Given the description of an element on the screen output the (x, y) to click on. 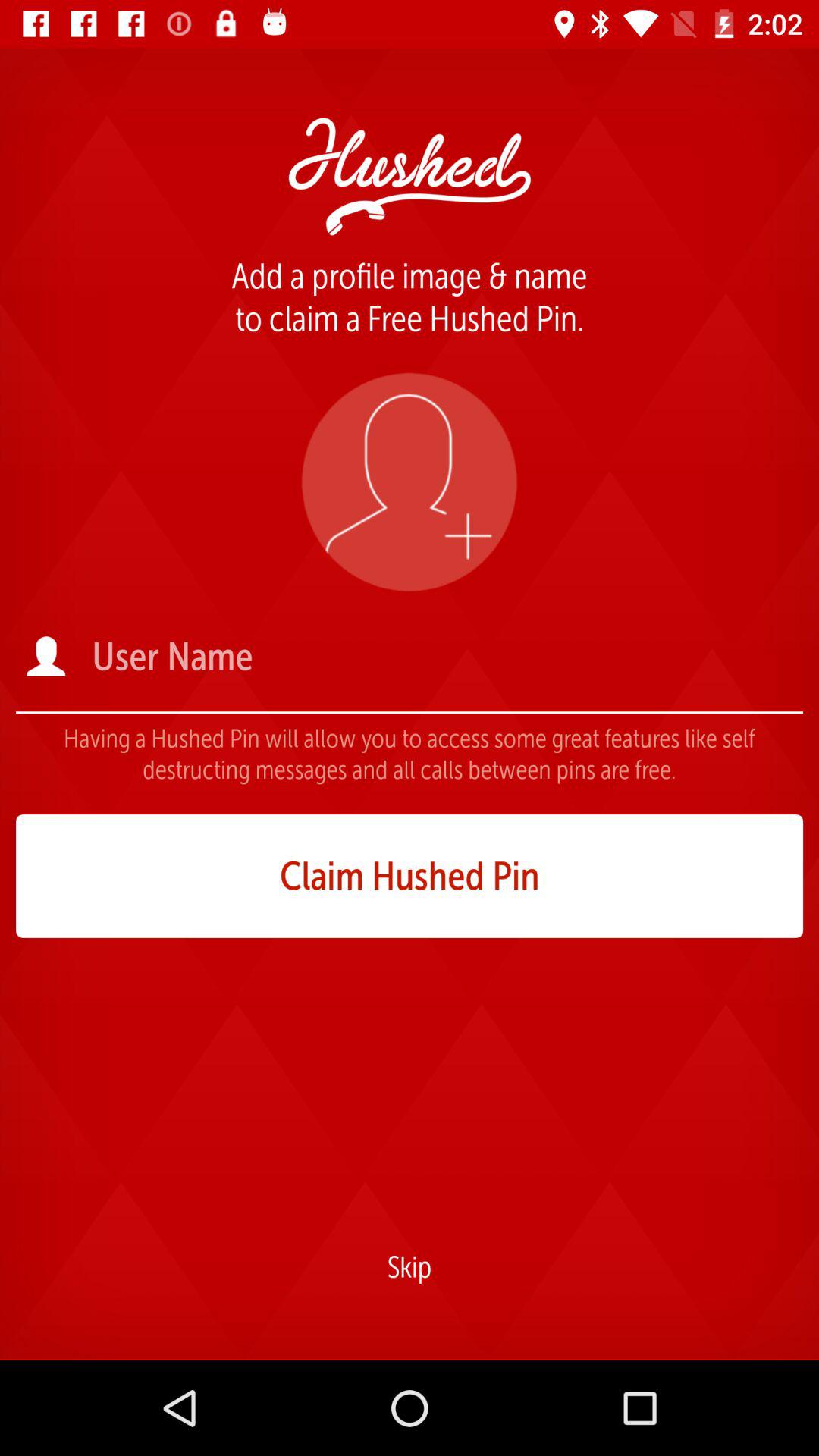
add profile image (408, 481)
